Given the description of an element on the screen output the (x, y) to click on. 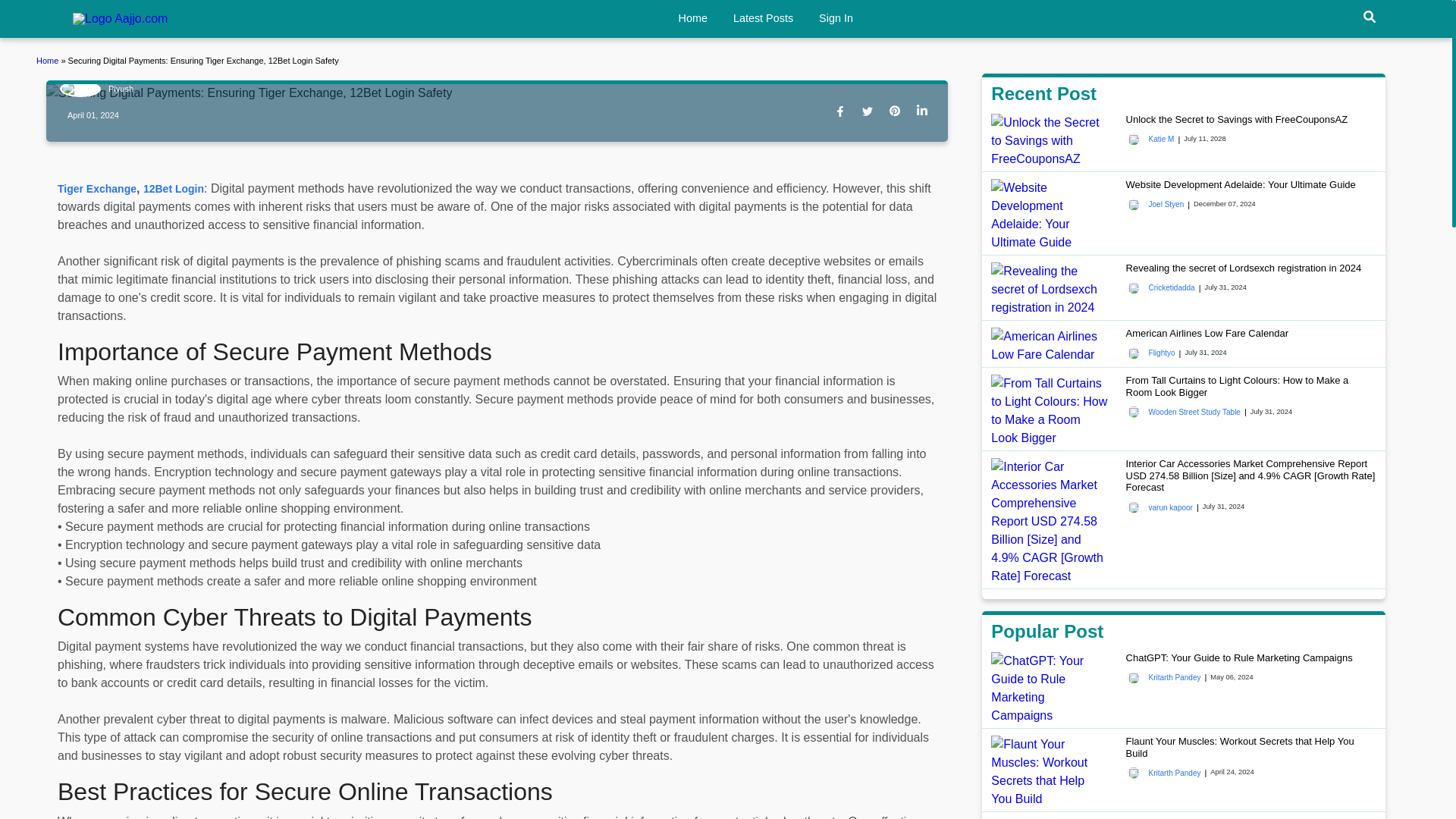
Sign In (835, 18)
Tiger Exchange (97, 187)
pinterest (897, 112)
Latest Posts (763, 18)
Piyush (96, 89)
Home (48, 60)
Linkedin (924, 112)
facebook (842, 112)
Blog  Home (48, 60)
Home (692, 18)
twitter (870, 112)
Home (119, 19)
12Bet Login (172, 187)
